Given the description of an element on the screen output the (x, y) to click on. 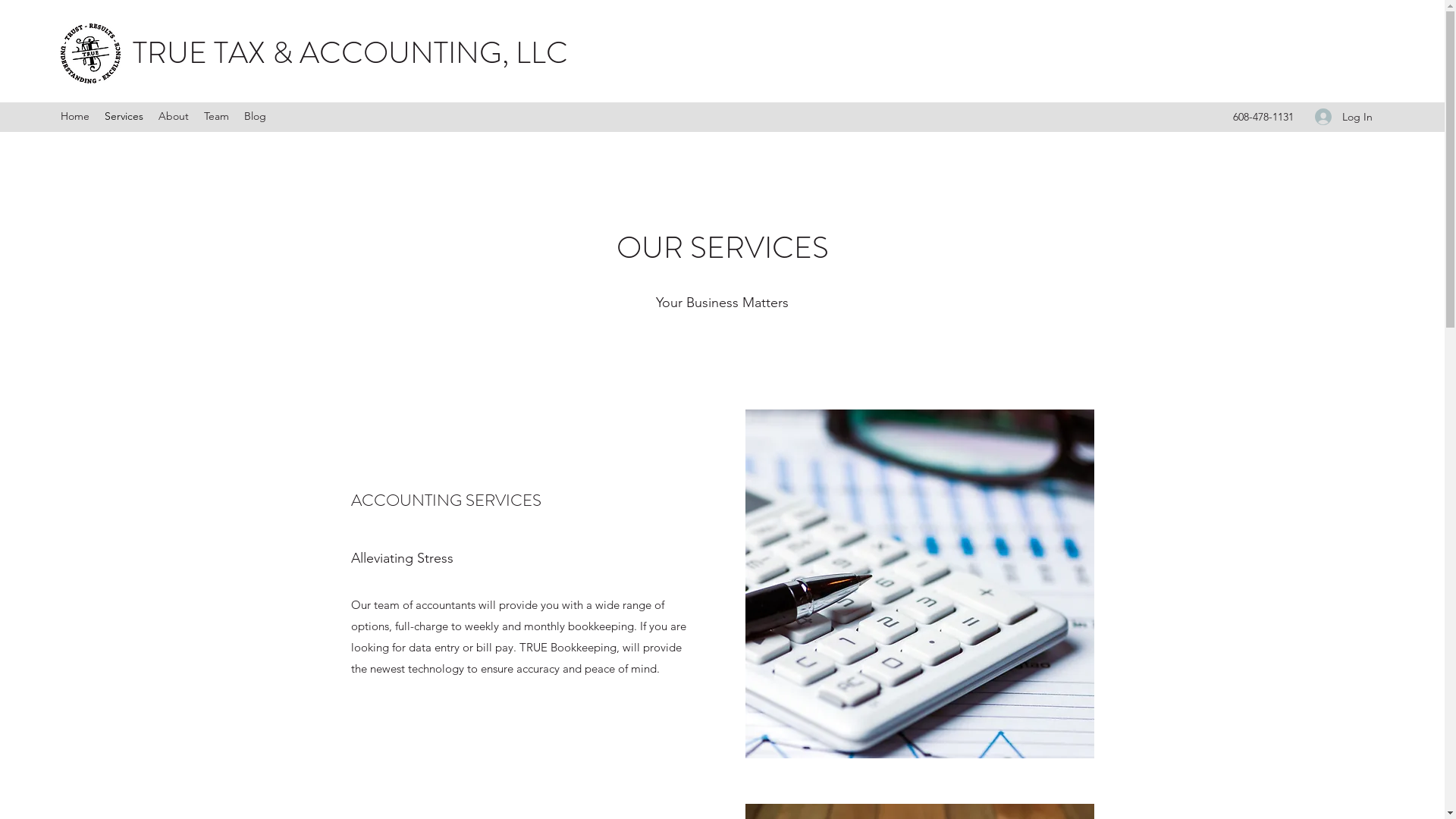
Team Element type: text (216, 116)
Services Element type: text (123, 116)
TRUE TAX & ACCOUNTING, LLC Element type: text (349, 52)
Blog Element type: text (254, 116)
About Element type: text (173, 116)
Home Element type: text (75, 116)
Log In Element type: text (1343, 117)
